Given the description of an element on the screen output the (x, y) to click on. 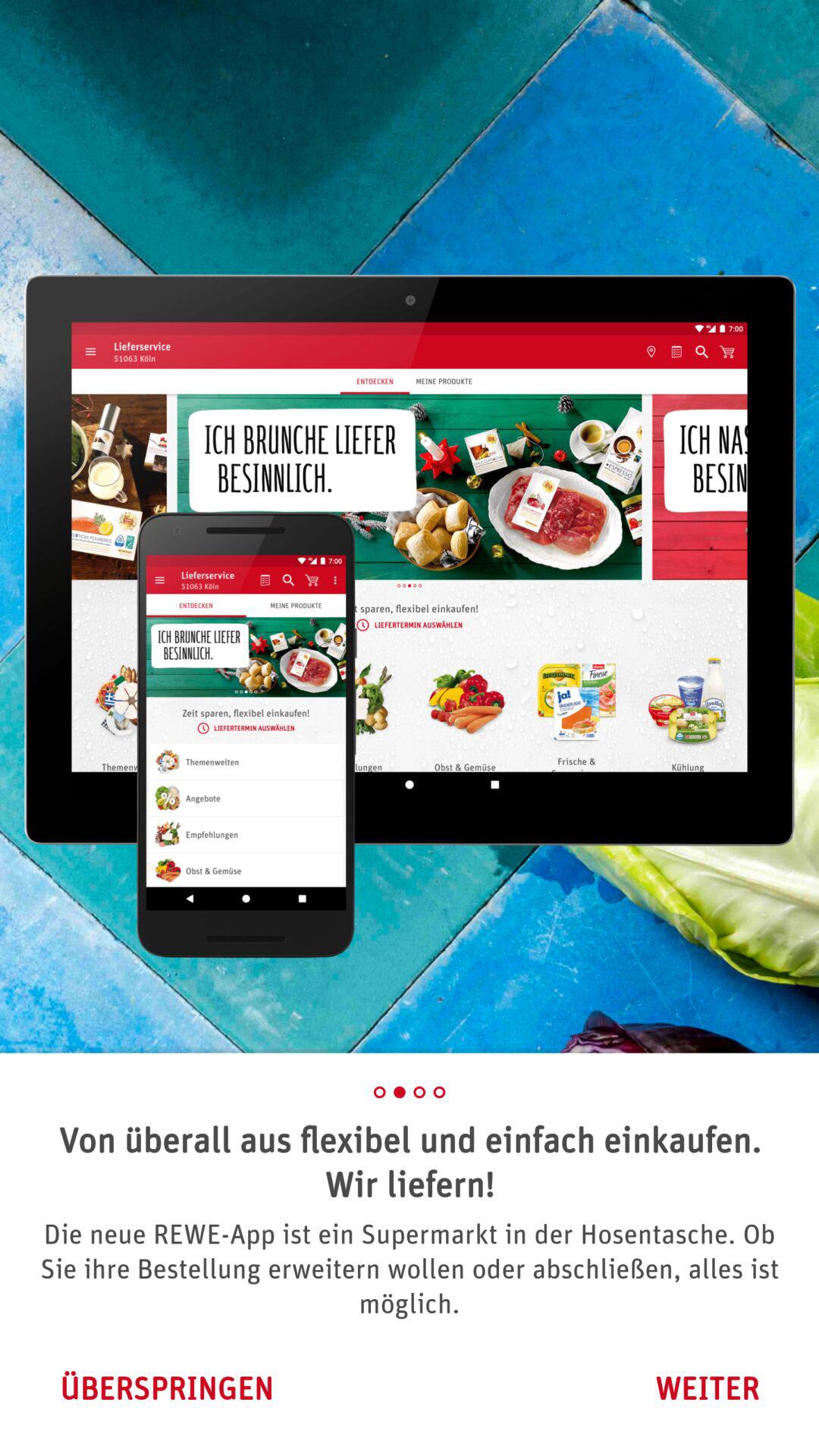
tap item to the left of weiter icon (166, 1388)
